Given the description of an element on the screen output the (x, y) to click on. 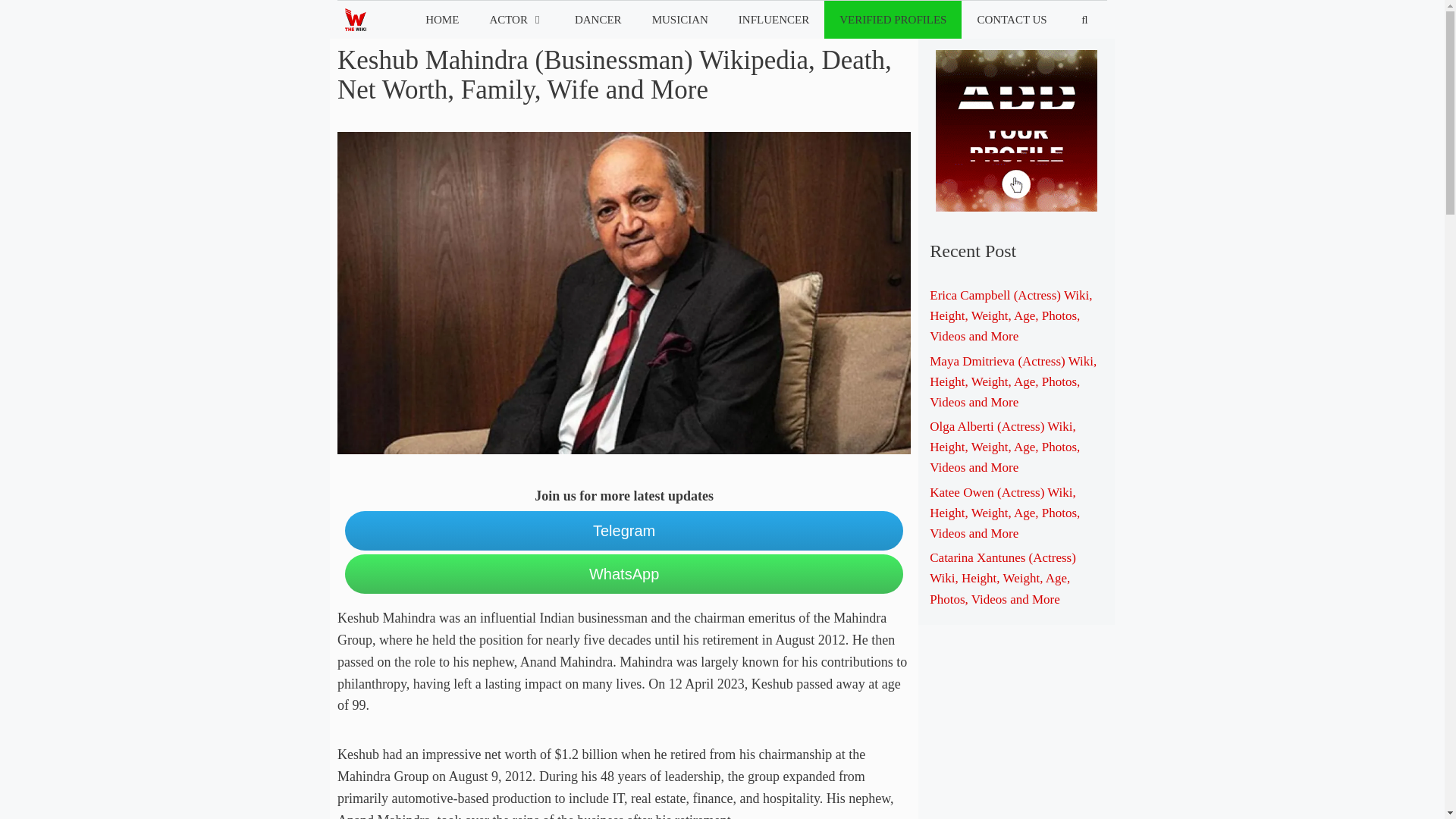
INFLUENCER (773, 19)
VERIFIED PROFILES (892, 19)
HOME (442, 19)
Search (37, 16)
ACTOR (516, 19)
DANCER (598, 19)
MUSICIAN (680, 19)
CONTACT US (1010, 19)
